Given the description of an element on the screen output the (x, y) to click on. 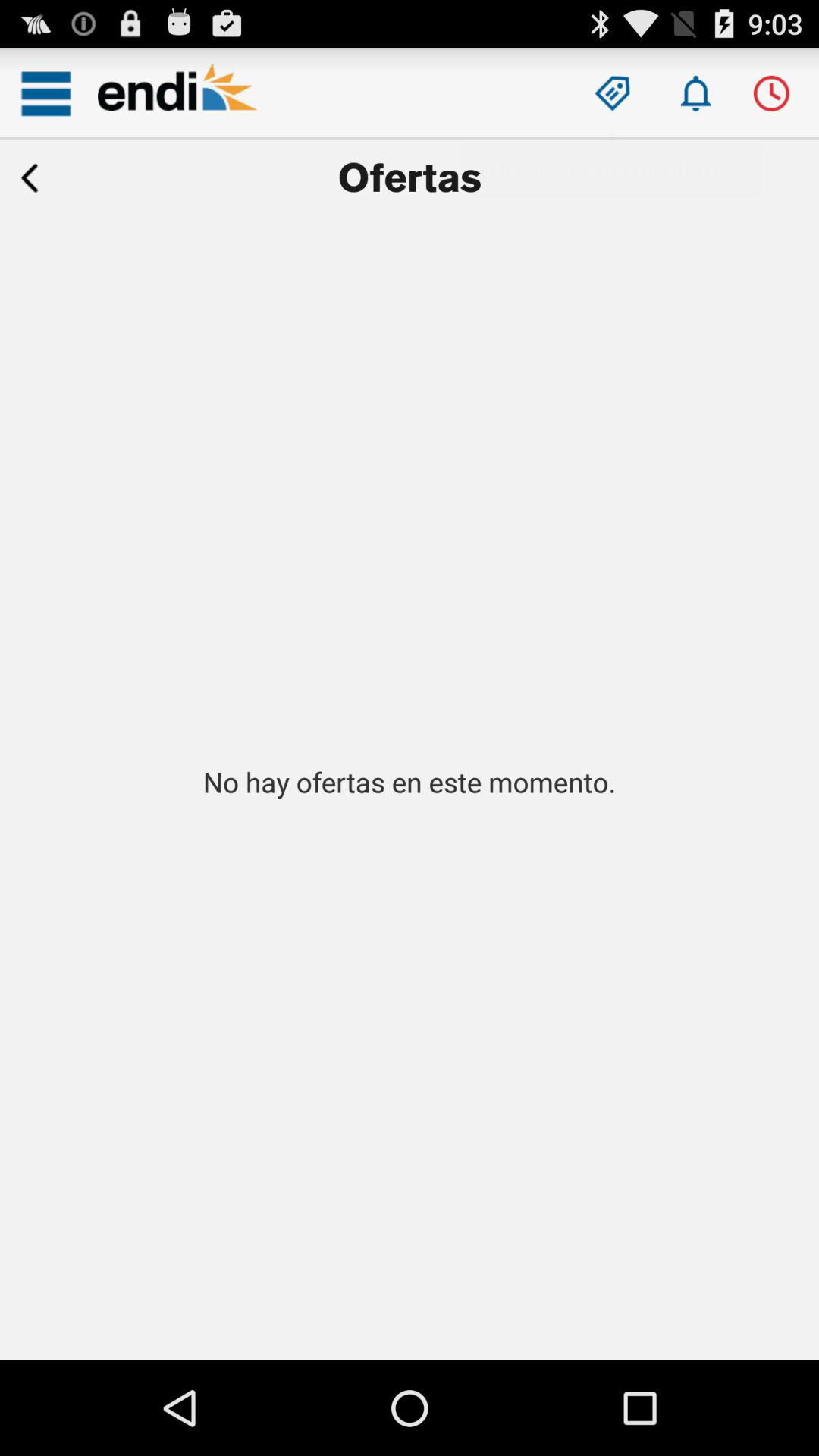
click on the back page arrow (29, 178)
